Given the description of an element on the screen output the (x, y) to click on. 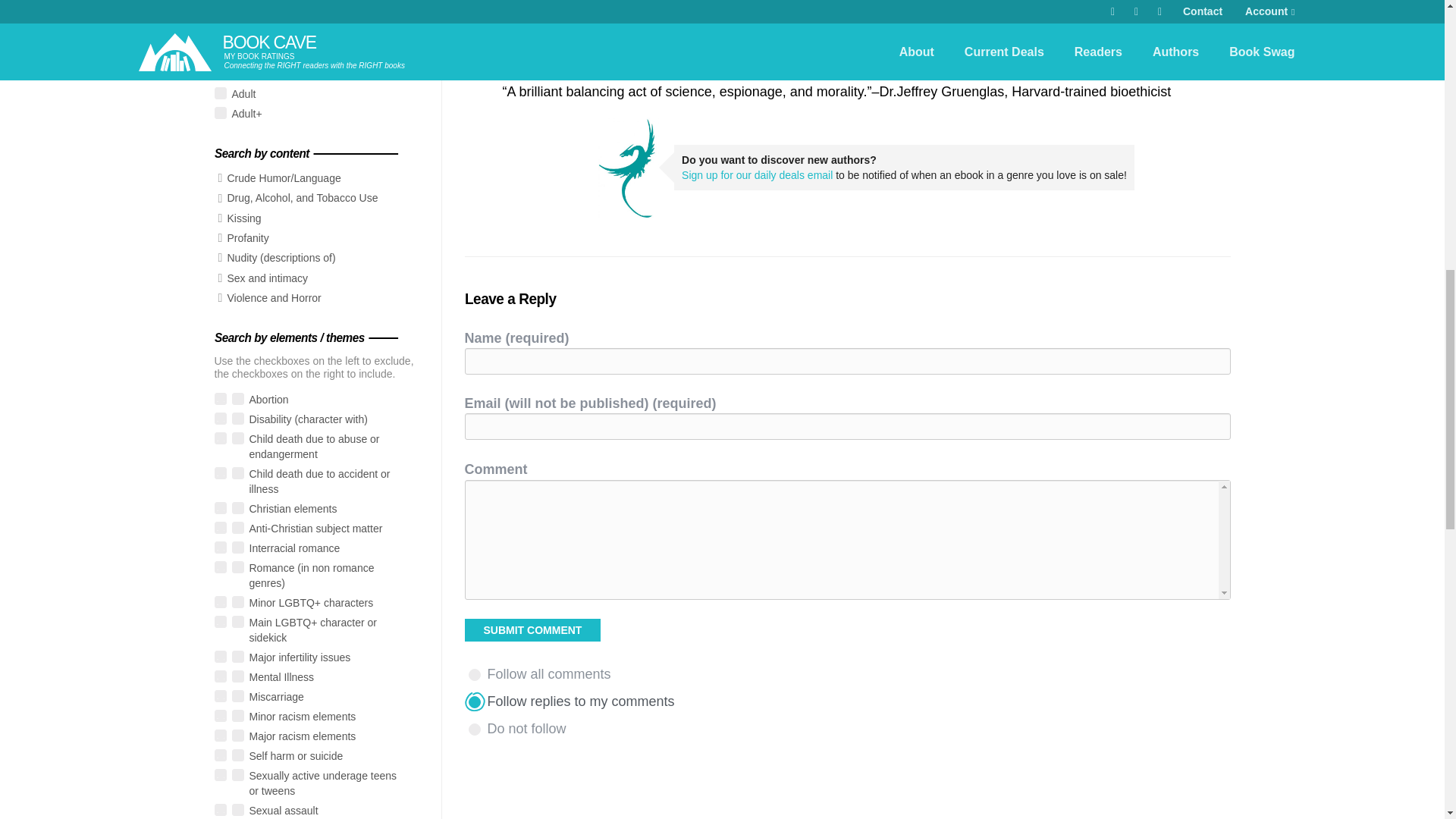
Share through email (474, 9)
